Given the description of an element on the screen output the (x, y) to click on. 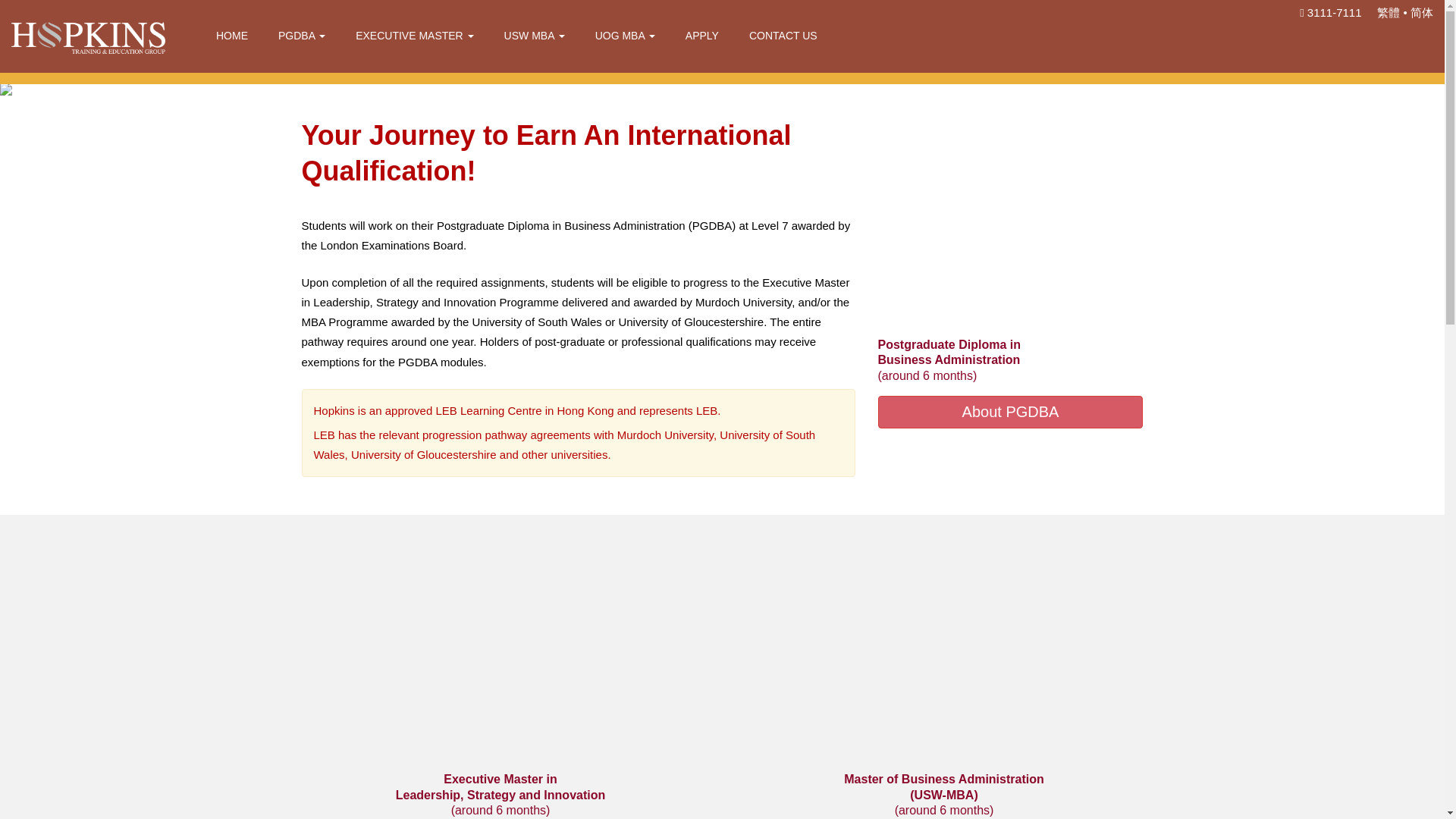
PGDBA (301, 38)
HOME (231, 38)
3111-7111 (1330, 11)
PGDBA (301, 38)
UOG MBA (624, 38)
USW MBA (534, 38)
CONTACT US (782, 38)
APPLY (701, 38)
EXECUTIVE MASTER (413, 38)
EXECUTIVE MASTER (413, 38)
